Given the description of an element on the screen output the (x, y) to click on. 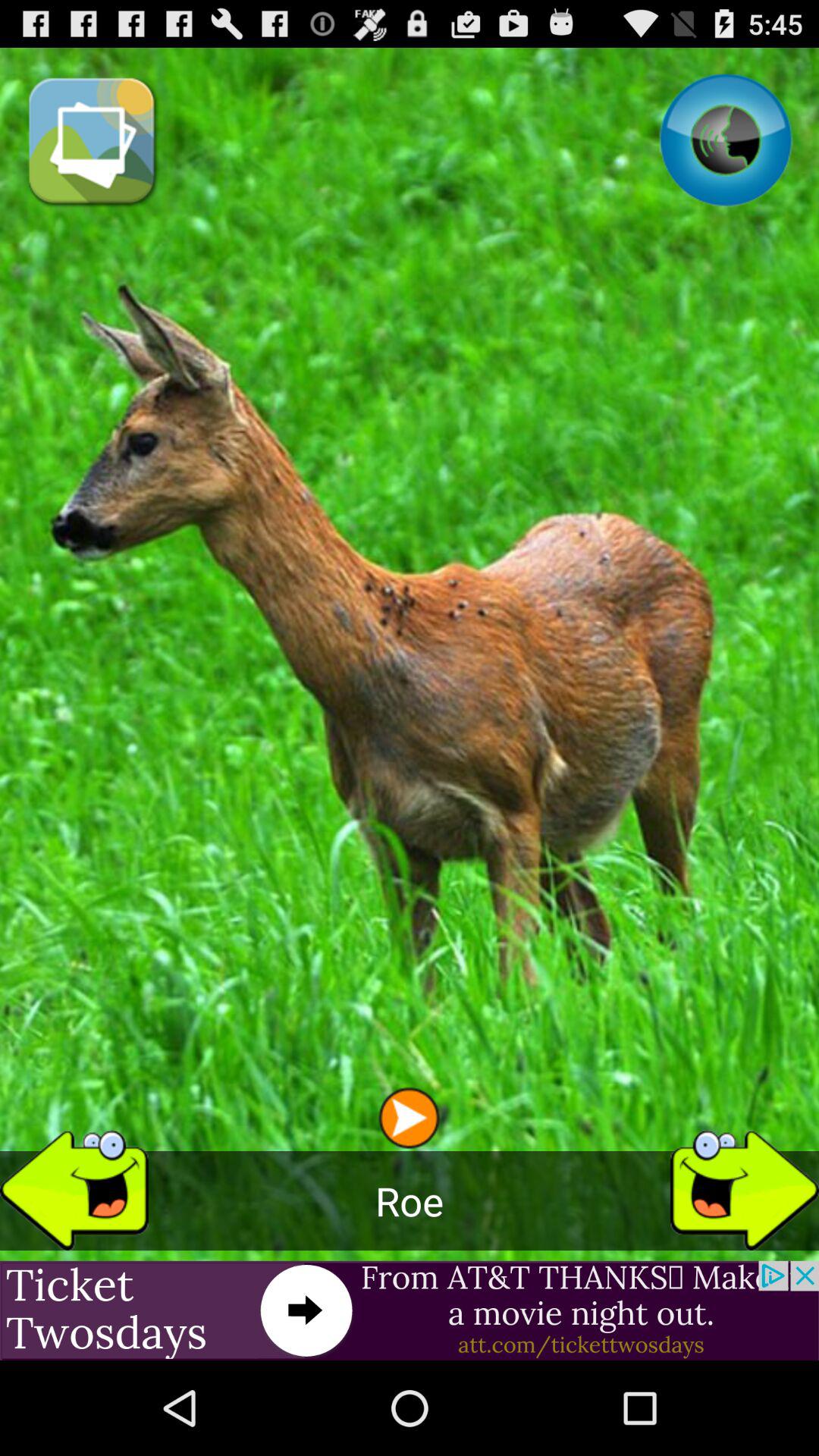
turn on item at the top right corner (725, 140)
